Given the description of an element on the screen output the (x, y) to click on. 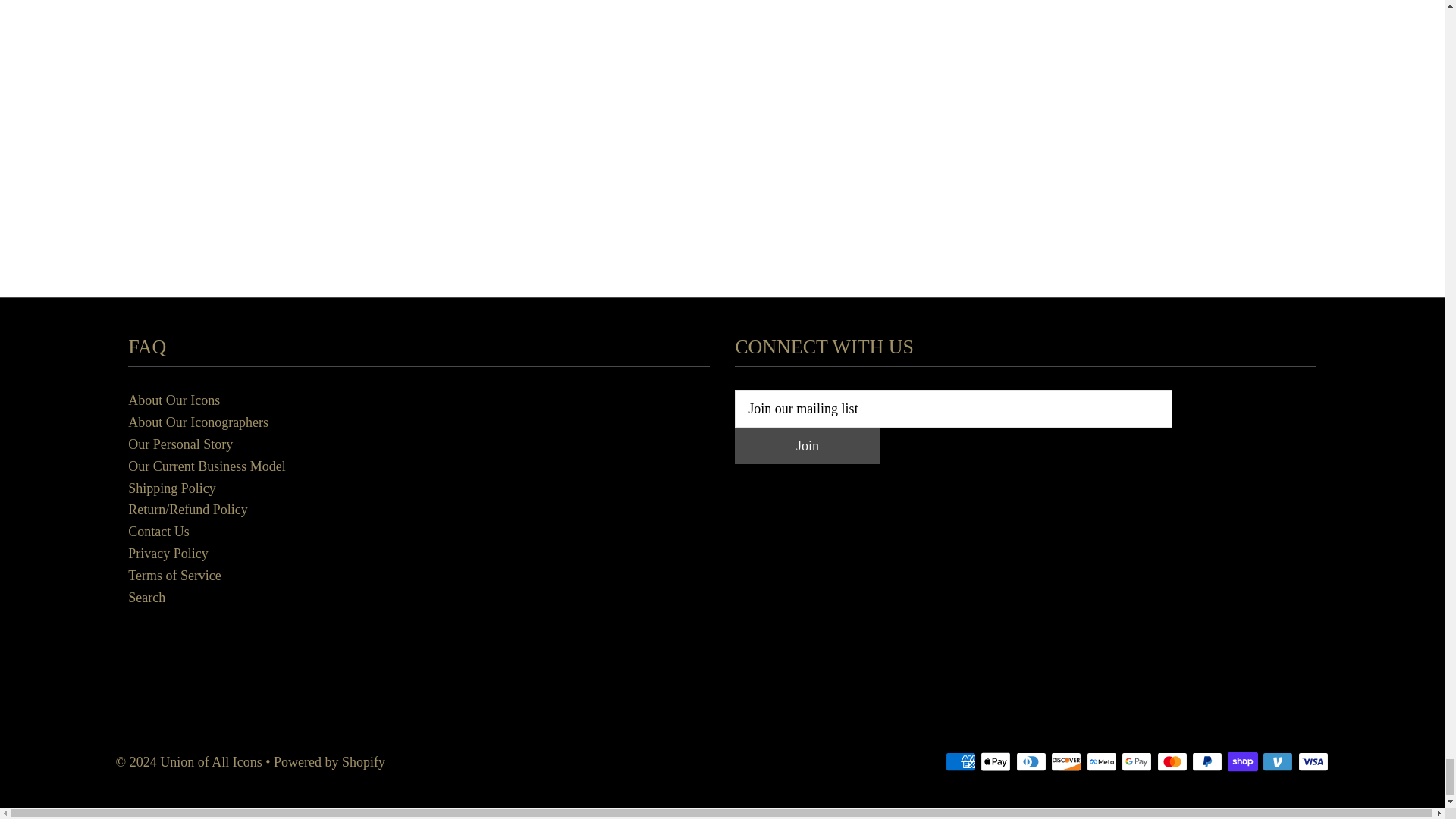
Apple Pay (994, 761)
Join (807, 445)
Google Pay (1136, 761)
American Express (959, 761)
PayPal (1207, 761)
Diners Club (1031, 761)
Discover (1066, 761)
Mastercard (1172, 761)
Meta Pay (1101, 761)
Shop Pay (1242, 761)
Visa (1312, 761)
Venmo (1277, 761)
